Given the description of an element on the screen output the (x, y) to click on. 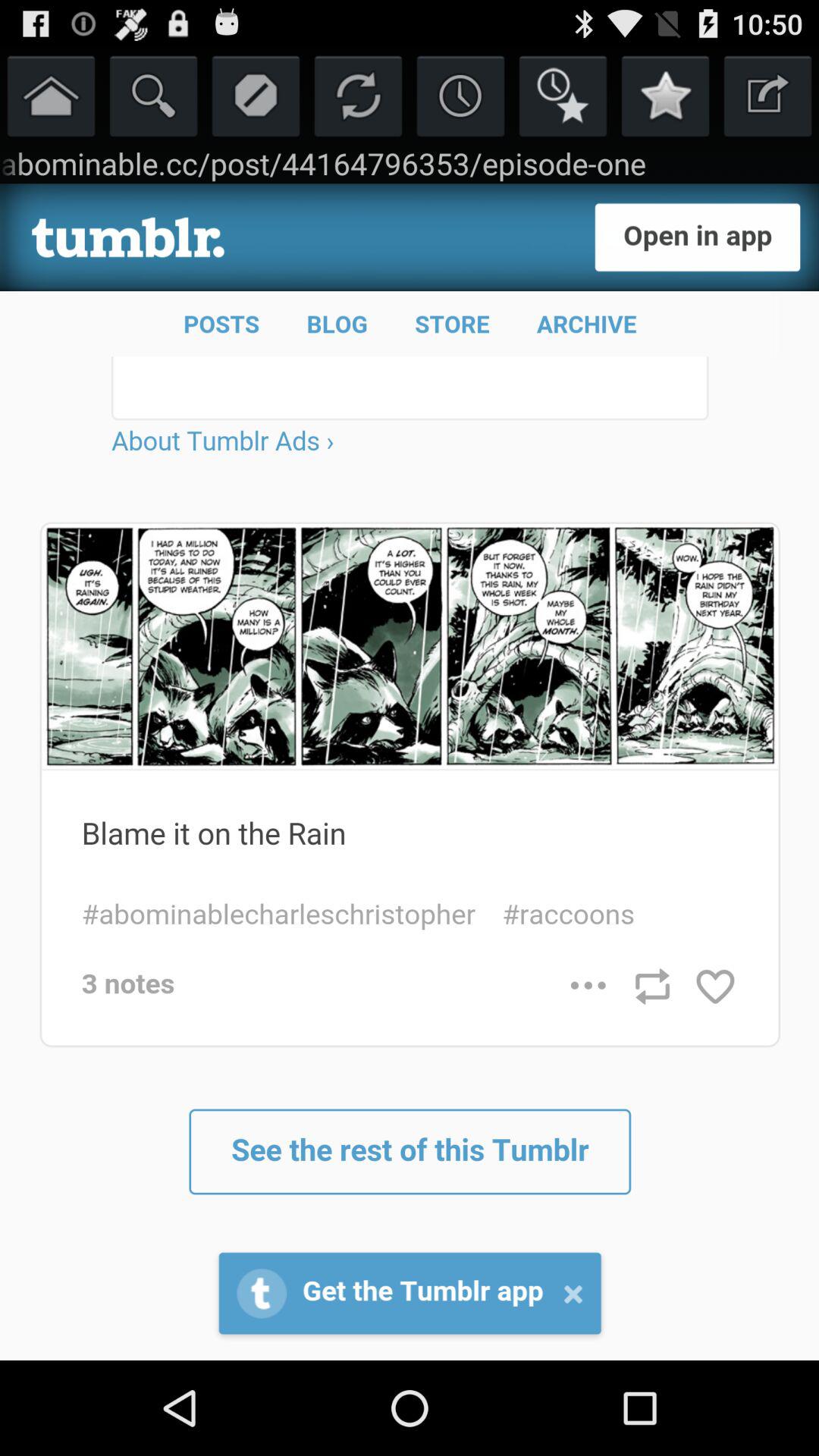
search (153, 95)
